Given the description of an element on the screen output the (x, y) to click on. 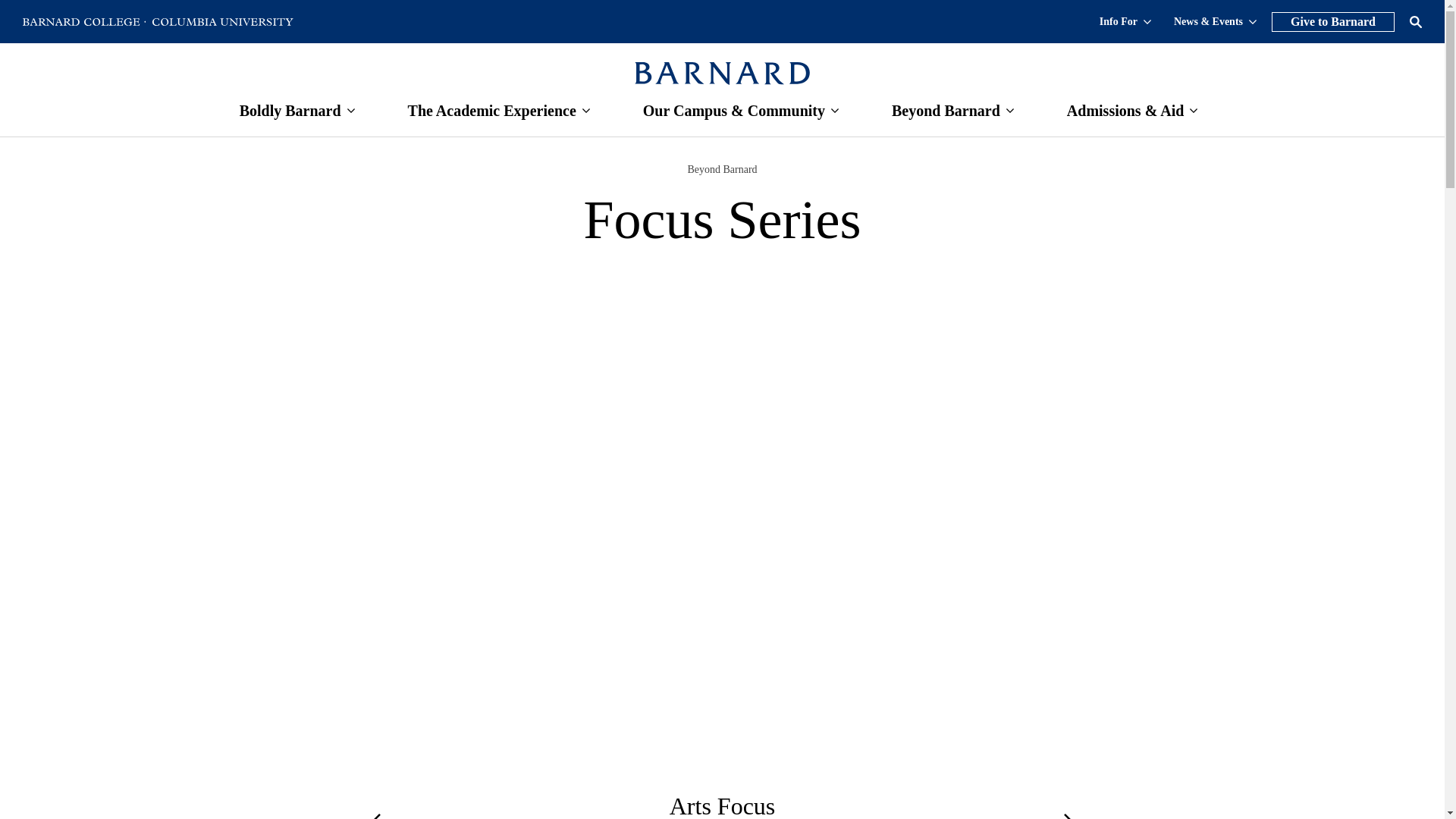
Info For (1125, 20)
Give to Barnard (1332, 21)
Campus Life (734, 110)
About Barnard (290, 110)
Academics and Curriculum (491, 110)
Boldly Barnard (290, 110)
Applying for admissions and financial aid (1126, 110)
